Given the description of an element on the screen output the (x, y) to click on. 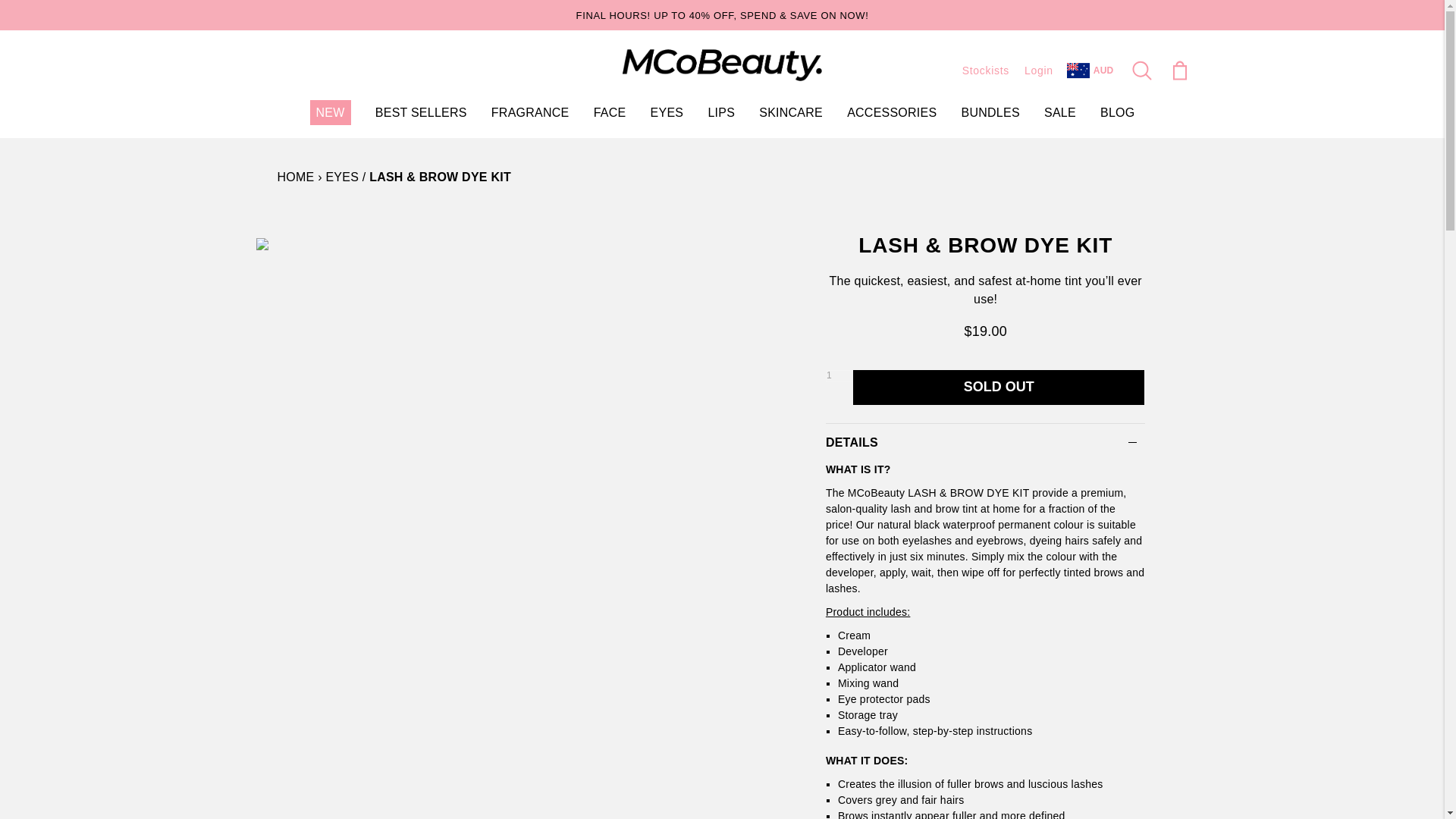
Home (296, 176)
Login (1038, 70)
BEST SELLERS (421, 112)
EYES (667, 112)
NEW (330, 112)
Stockists (985, 70)
FACE (610, 112)
FRAGRANCE (530, 112)
